Given the description of an element on the screen output the (x, y) to click on. 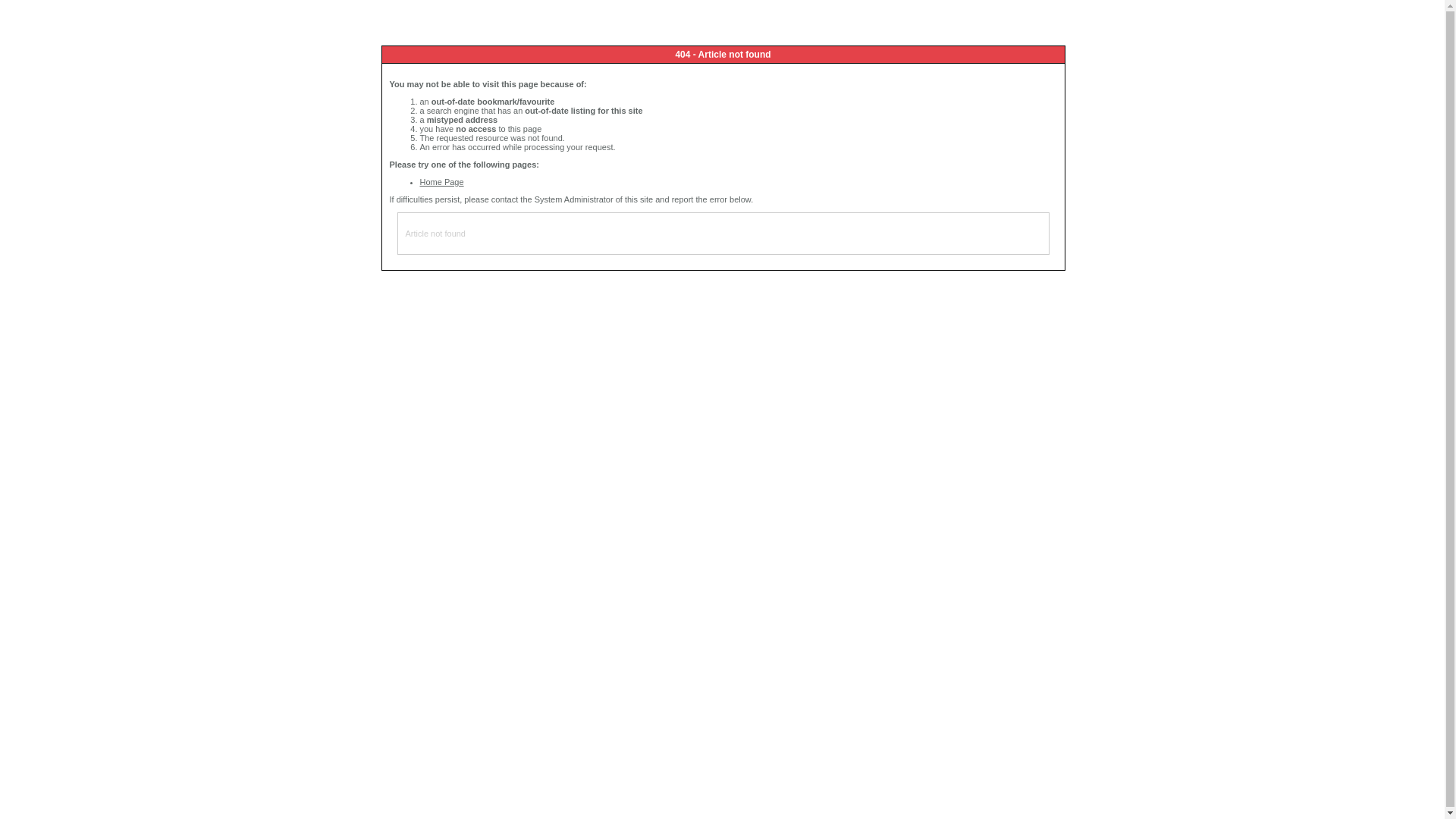
Home Page Element type: text (442, 181)
